Given the description of an element on the screen output the (x, y) to click on. 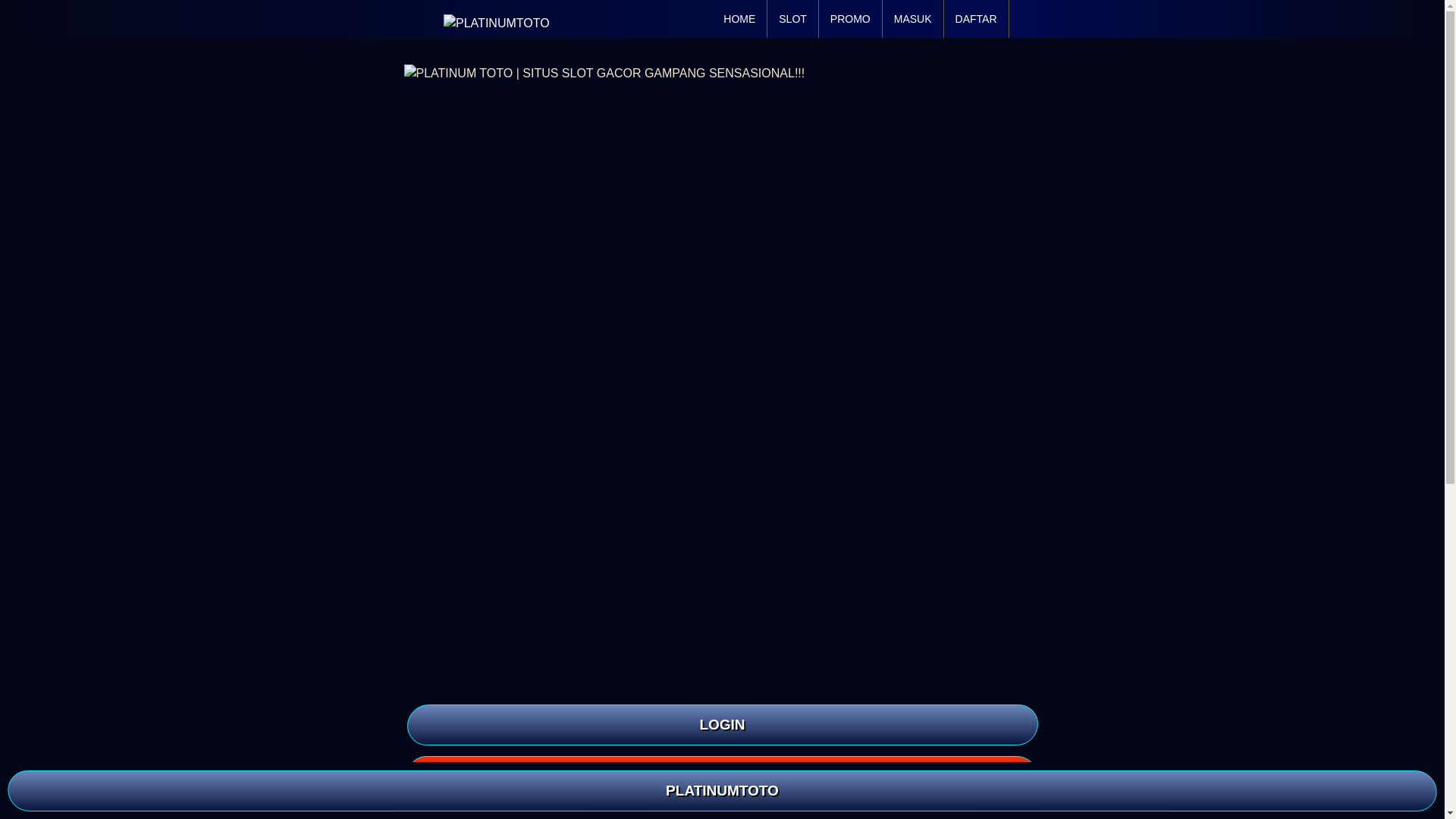
SLOT (792, 18)
DAFTAR (721, 775)
DAFTAR (976, 18)
PROMO (850, 18)
MASUK (912, 18)
LOGIN (721, 724)
HOME (739, 18)
